Given the description of an element on the screen output the (x, y) to click on. 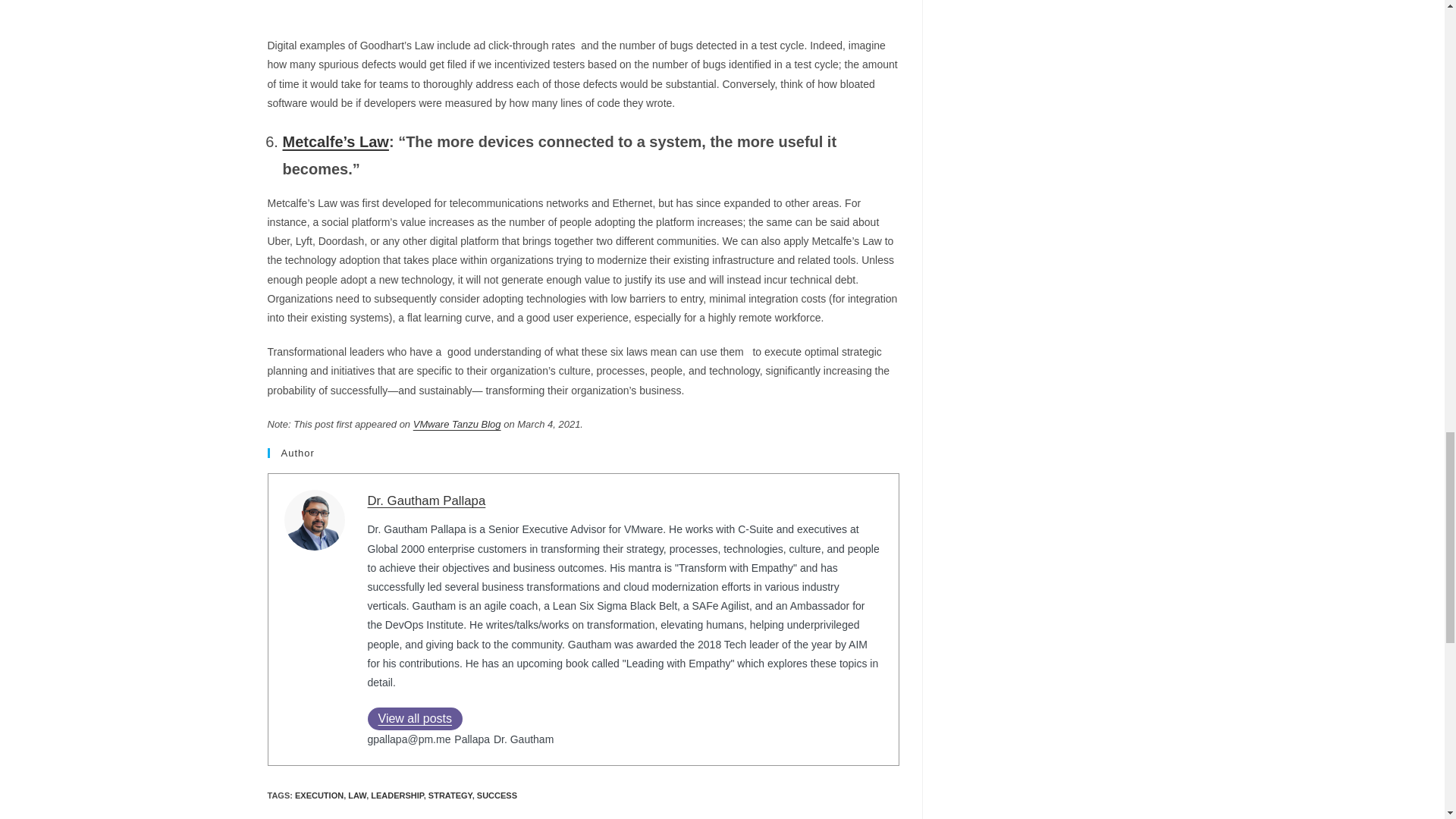
SUCCESS (496, 795)
EXECUTION (319, 795)
Dr. Gautham Pallapa (425, 500)
VMware Tanzu Blog (456, 423)
View all posts (414, 718)
View all posts (414, 718)
LAW (356, 795)
STRATEGY (449, 795)
Dr. Gautham Pallapa (425, 500)
LEADERSHIP (397, 795)
